Given the description of an element on the screen output the (x, y) to click on. 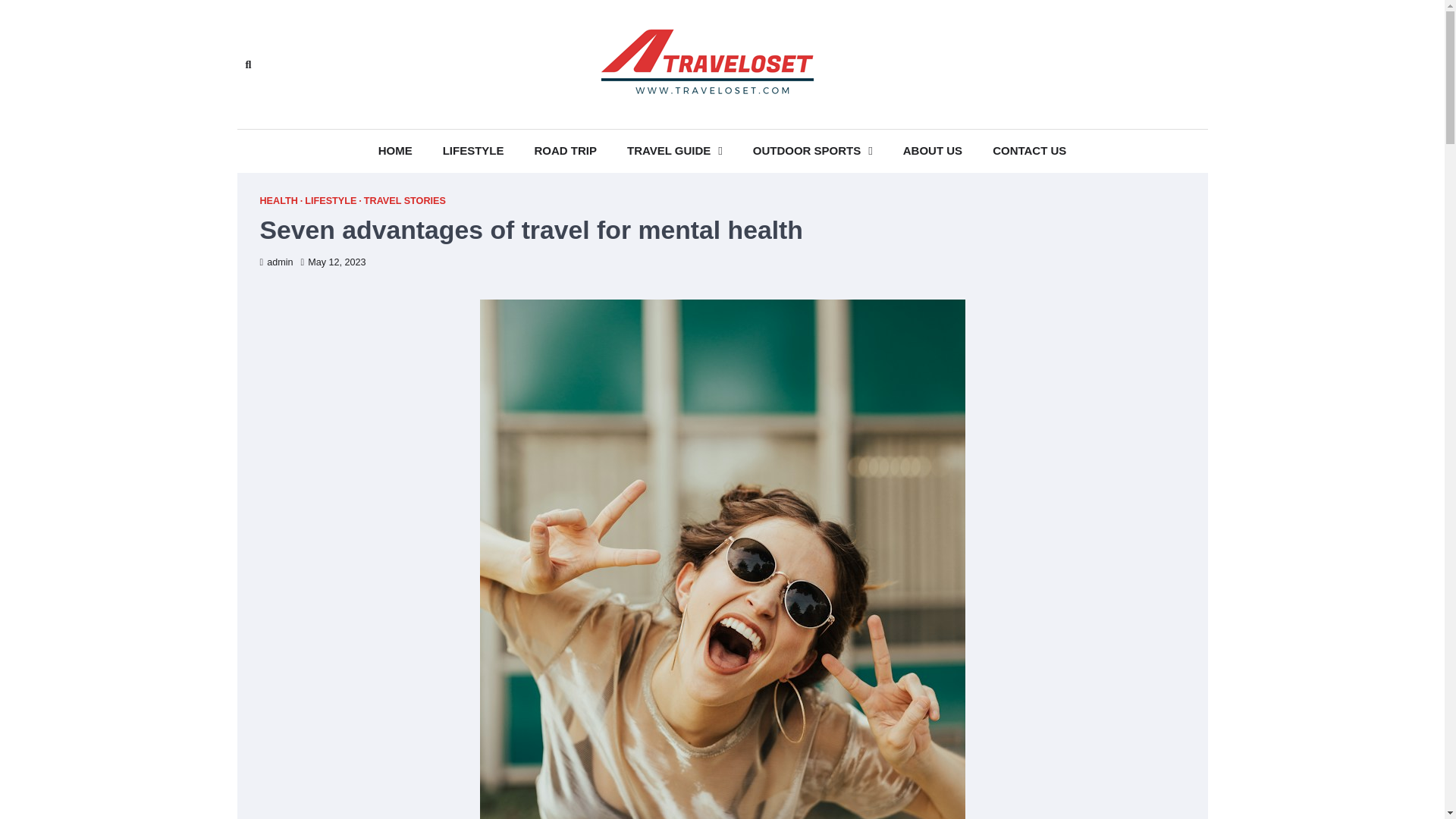
OUTDOOR SPORTS (813, 150)
Search (443, 99)
CONTACT US (1028, 150)
Search (247, 64)
HOME (395, 150)
LIFESTYLE (473, 150)
Privacy Policy (1154, 64)
TRAVEL GUIDE (674, 150)
ROAD TRIP (564, 150)
ABOUT US (932, 150)
